Given the description of an element on the screen output the (x, y) to click on. 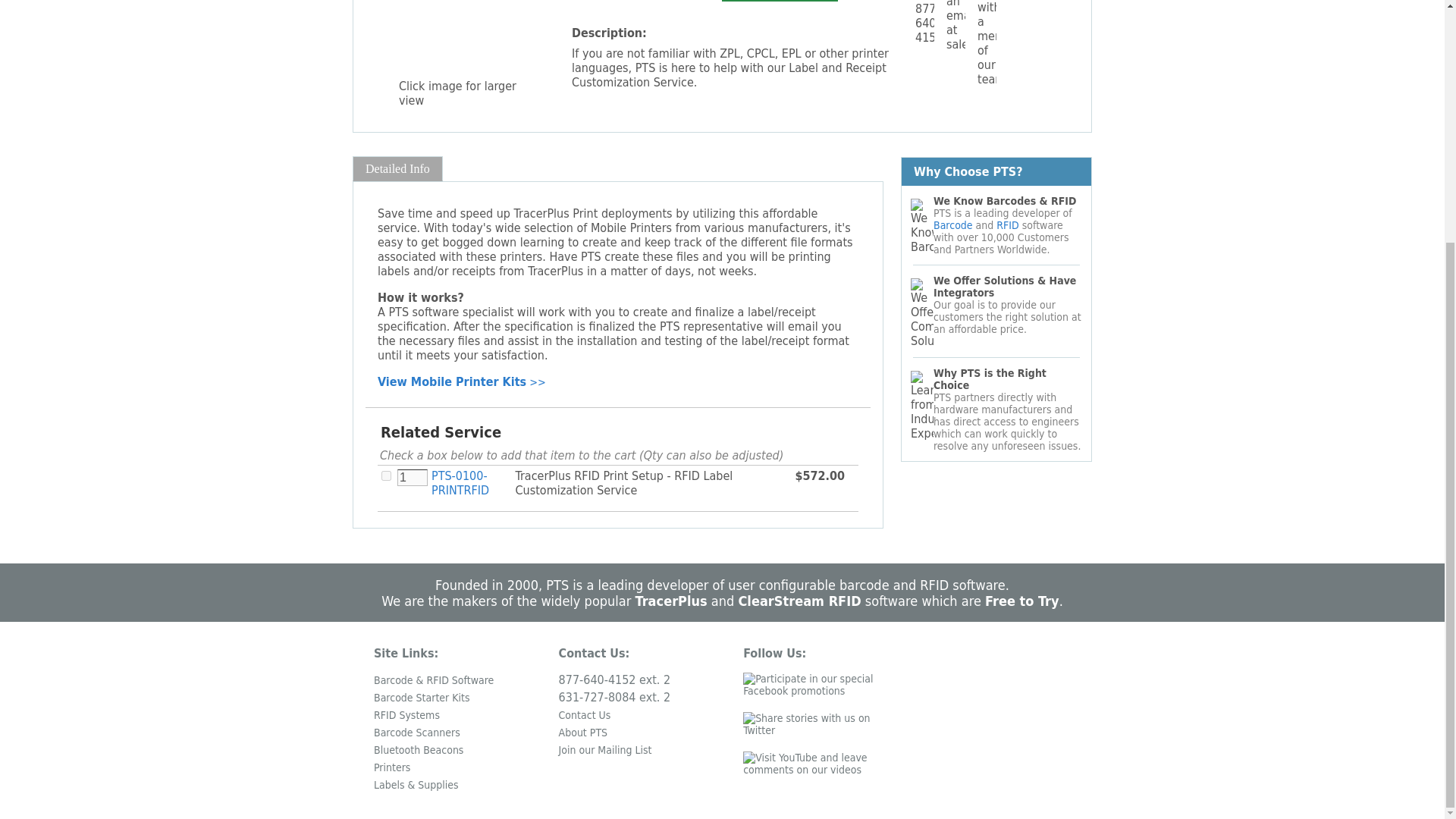
Visit our YouTube Channel (818, 769)
on (386, 475)
Connect with us on Twitter (818, 729)
ADD TO CART (780, 0)
1 (412, 477)
